Given the description of an element on the screen output the (x, y) to click on. 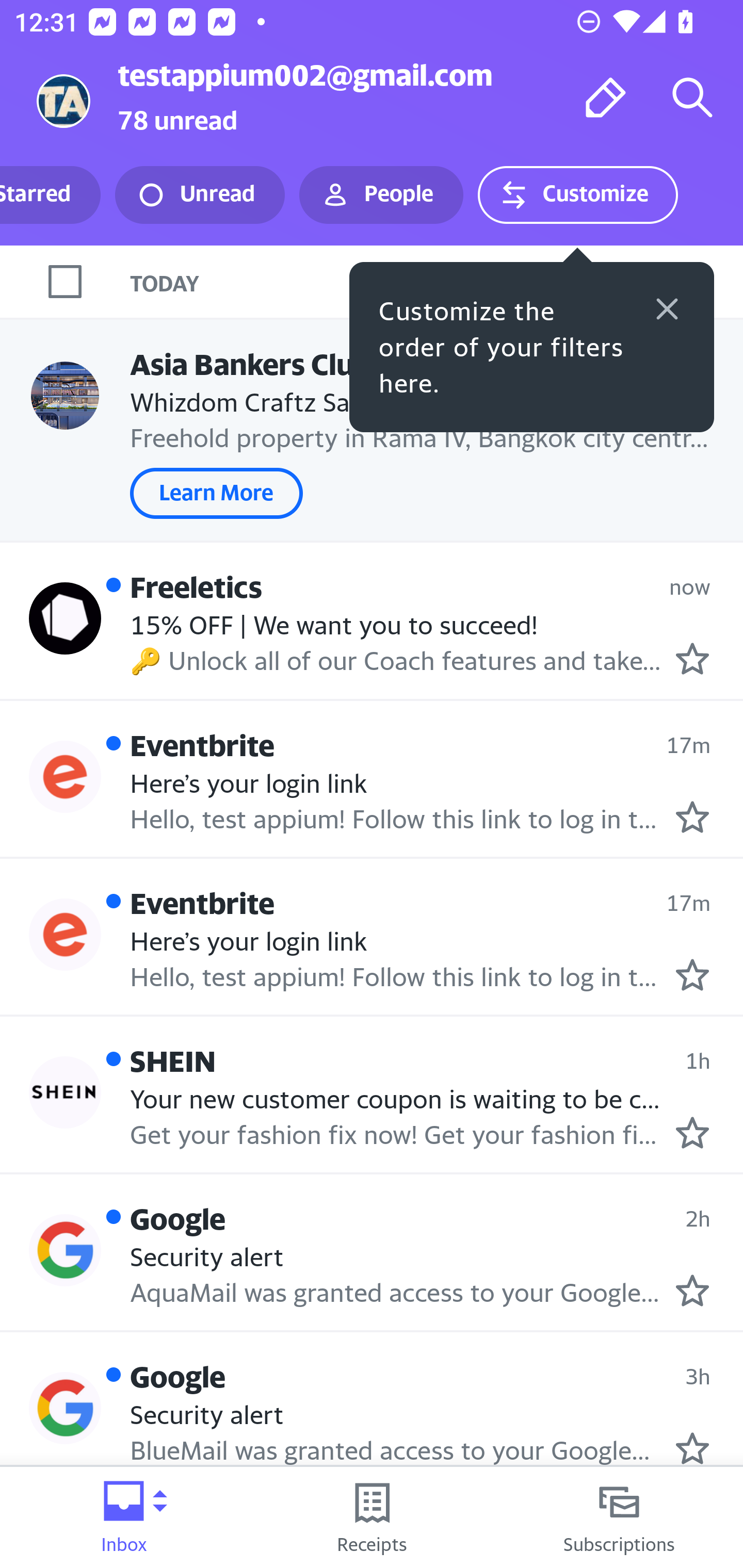
Close (667, 308)
